Given the description of an element on the screen output the (x, y) to click on. 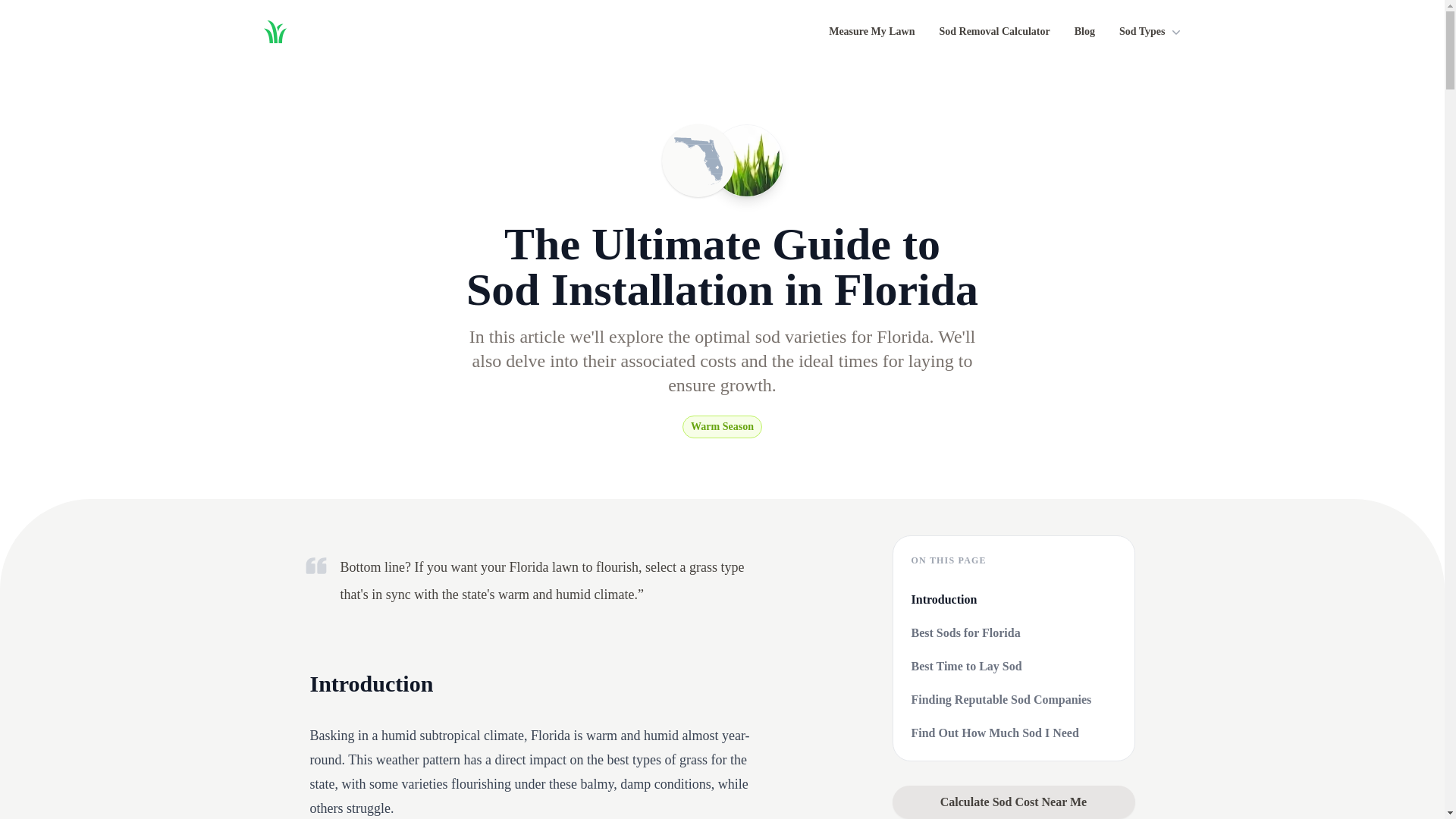
Finding Reputable Sod Companies (1013, 700)
Best Sods for Florida (1013, 633)
Introduction (1013, 599)
Measure My Lawn (871, 31)
Sod Types (1151, 31)
Best Time to Lay Sod (1013, 666)
Blog (1084, 31)
Calculate Sod Cost Near Me (1012, 802)
Find Out How Much Sod I Need (1013, 732)
Home (274, 31)
Sod Removal Calculator (994, 31)
